Given the description of an element on the screen output the (x, y) to click on. 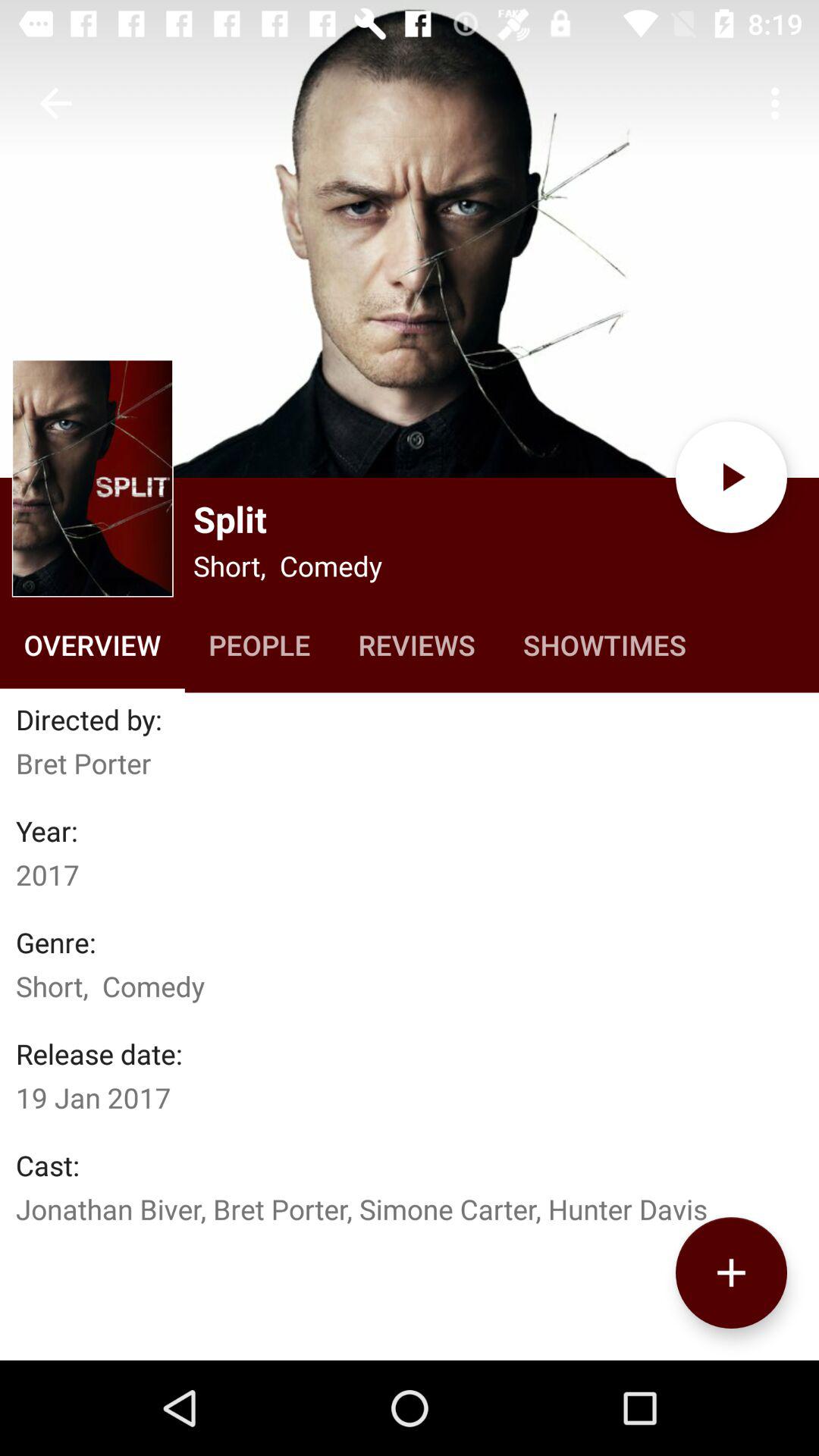
add to your saved movies (731, 1272)
